Given the description of an element on the screen output the (x, y) to click on. 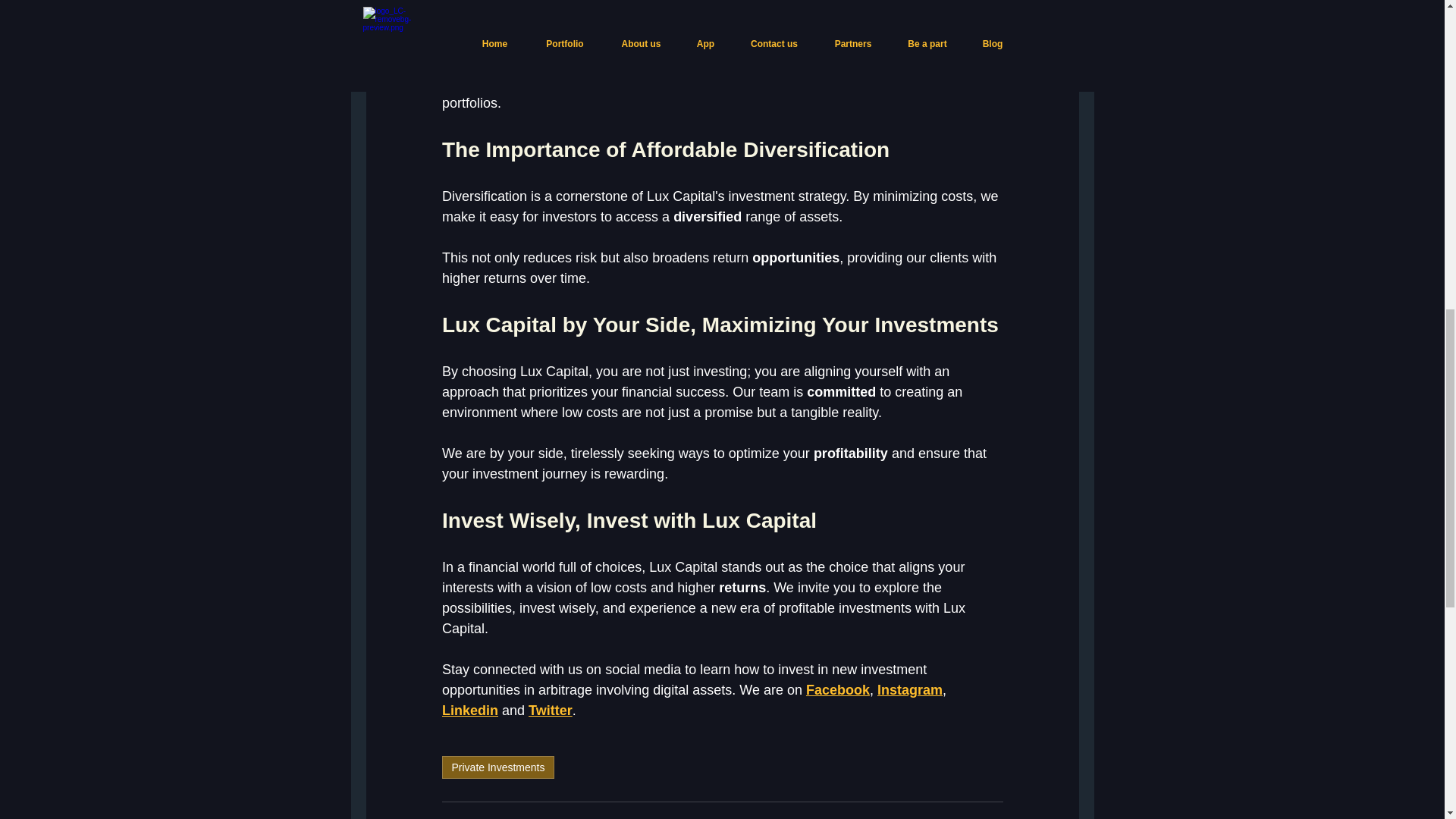
Private Investments (497, 766)
Instagram (909, 689)
Linkedin (469, 710)
Twitter (550, 710)
Facebook (837, 689)
